Given the description of an element on the screen output the (x, y) to click on. 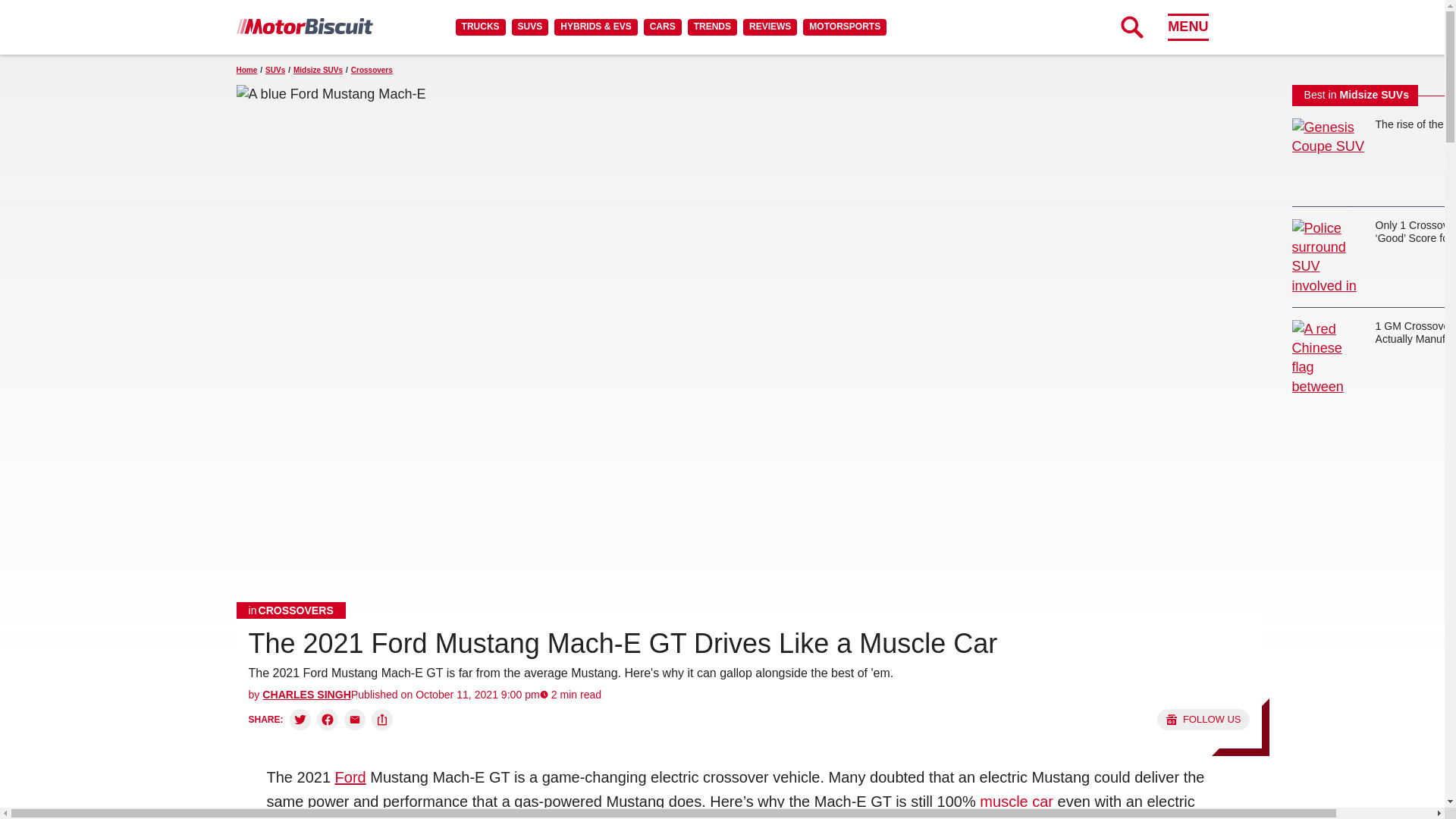
Copy link and share:  (382, 719)
MOTORSPORTS (844, 26)
MotorBiscuit (303, 26)
TRENDS (711, 26)
TRUCKS (480, 26)
Expand Search (1131, 26)
REVIEWS (769, 26)
Crossovers (290, 610)
CARS (662, 26)
Follow us on Google News (1203, 719)
